Given the description of an element on the screen output the (x, y) to click on. 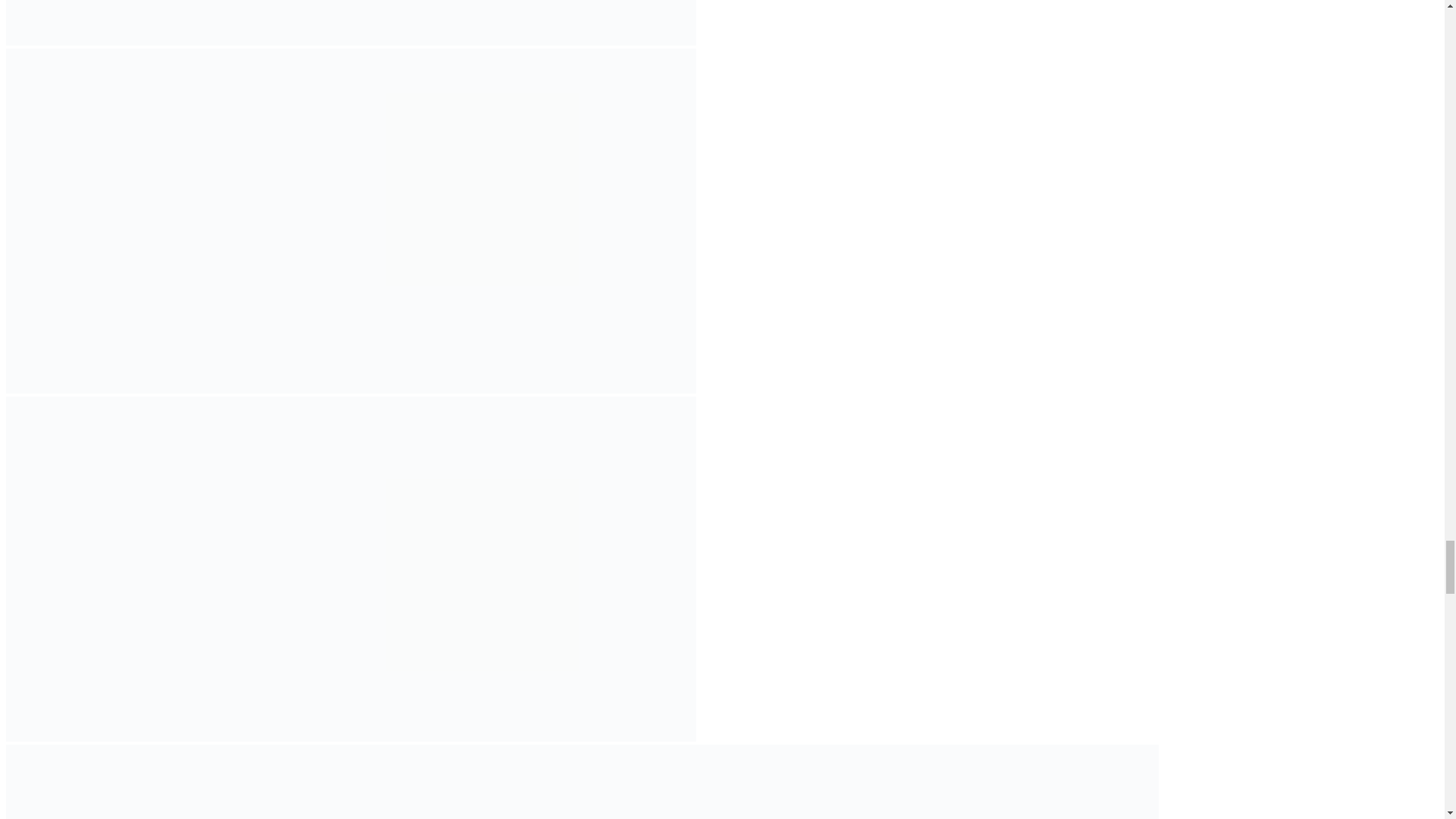
Cartier-jewellery (149, 781)
Cartier (1014, 781)
Wedding-Rings (438, 781)
web-design (726, 781)
